Given the description of an element on the screen output the (x, y) to click on. 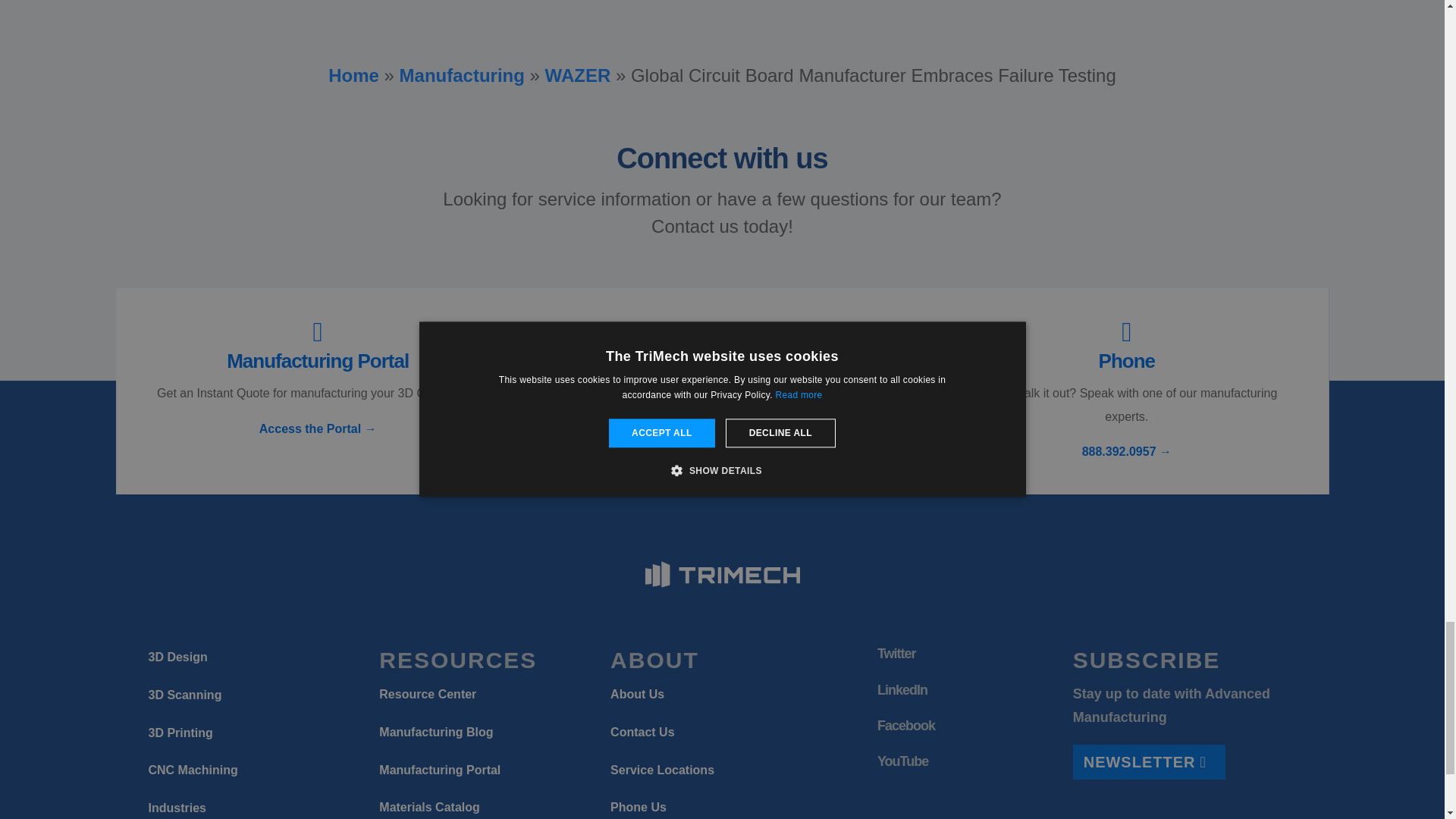
trimech-notag-1color-white (722, 574)
